Given the description of an element on the screen output the (x, y) to click on. 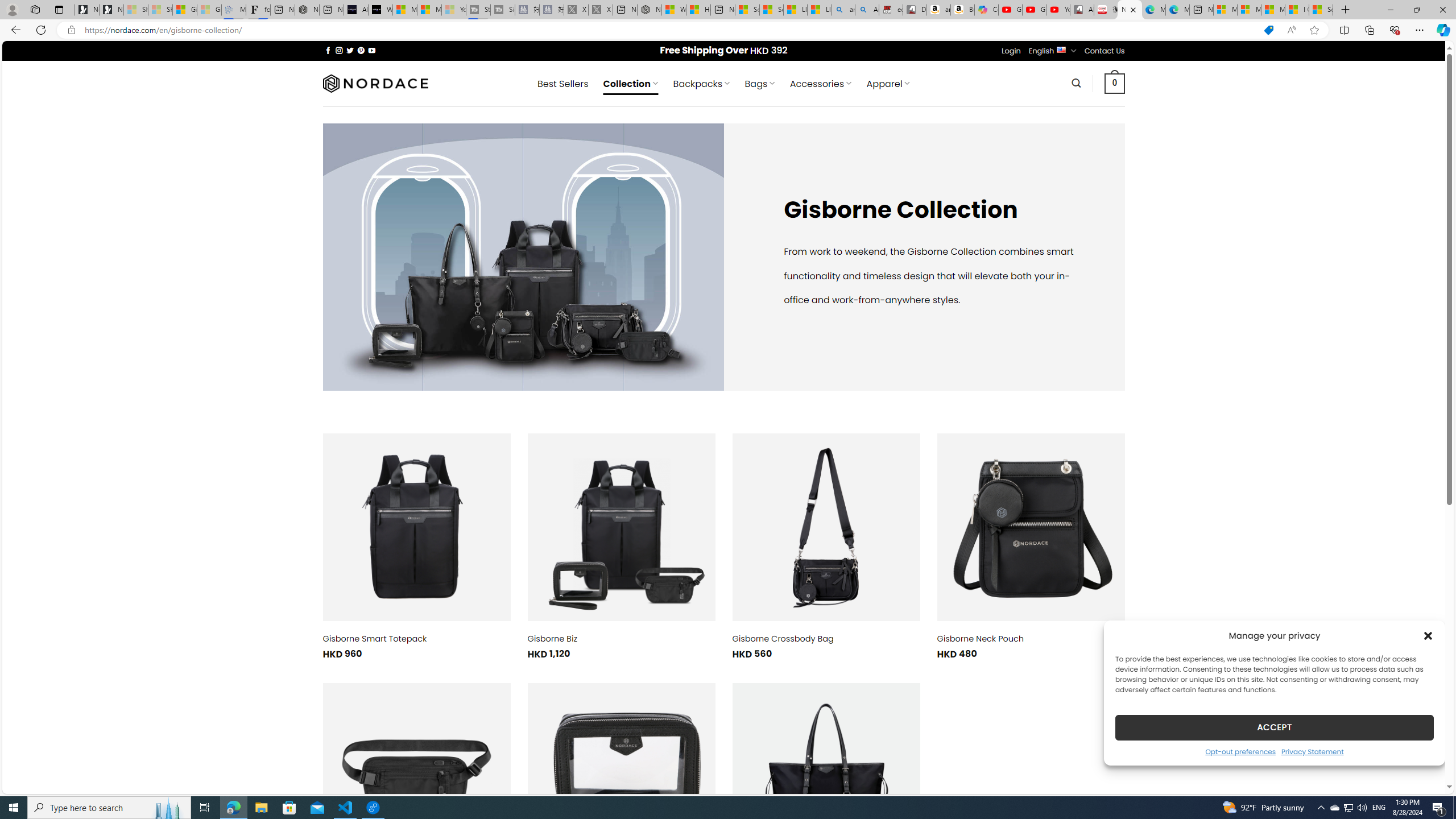
ACCEPT (1274, 727)
  Best Sellers (562, 83)
